Given the description of an element on the screen output the (x, y) to click on. 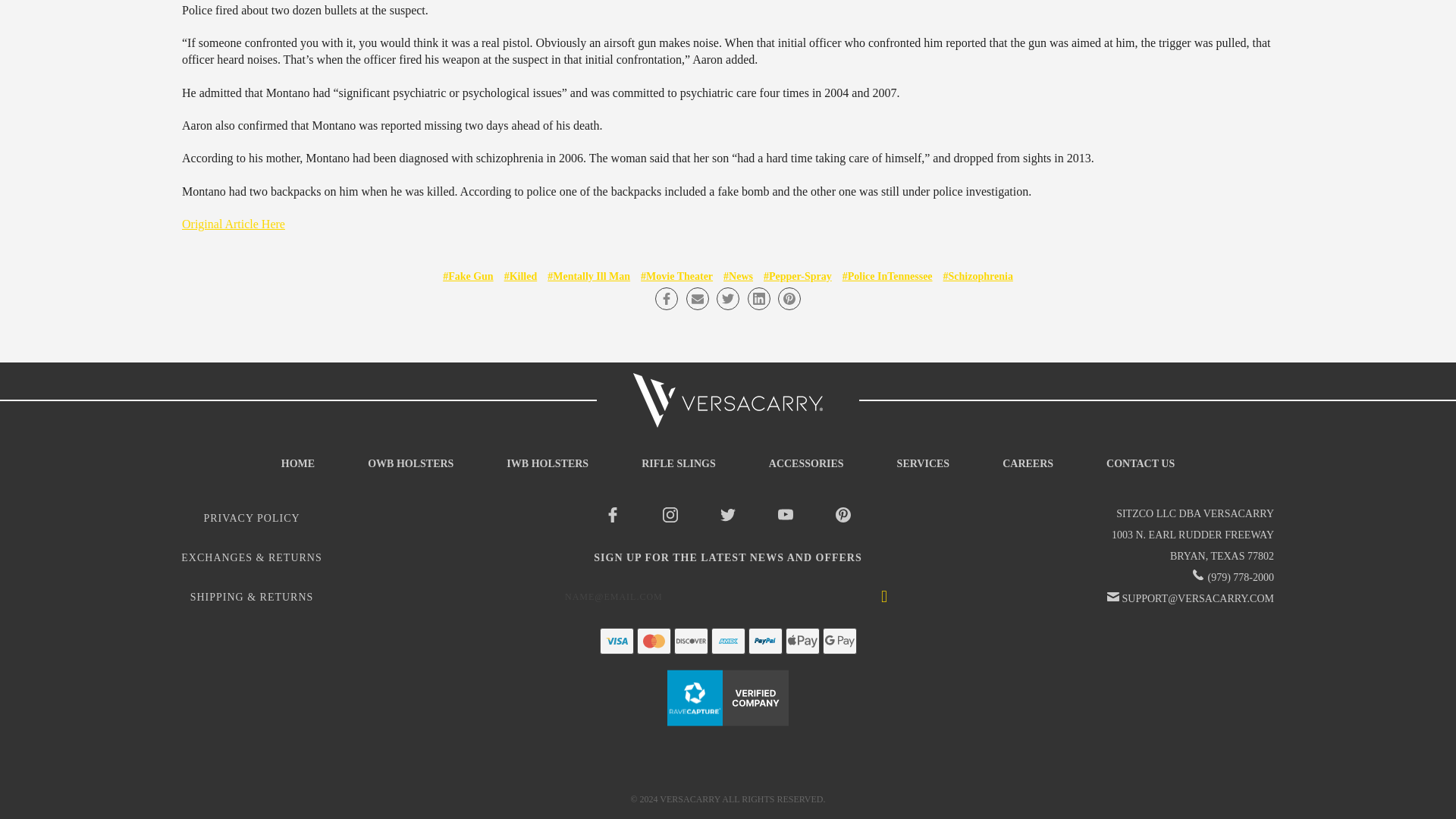
Linkedin (759, 298)
Twitter (727, 298)
Email (696, 298)
Facebook (666, 298)
Pinterest (788, 298)
Versacarry (727, 400)
